Given the description of an element on the screen output the (x, y) to click on. 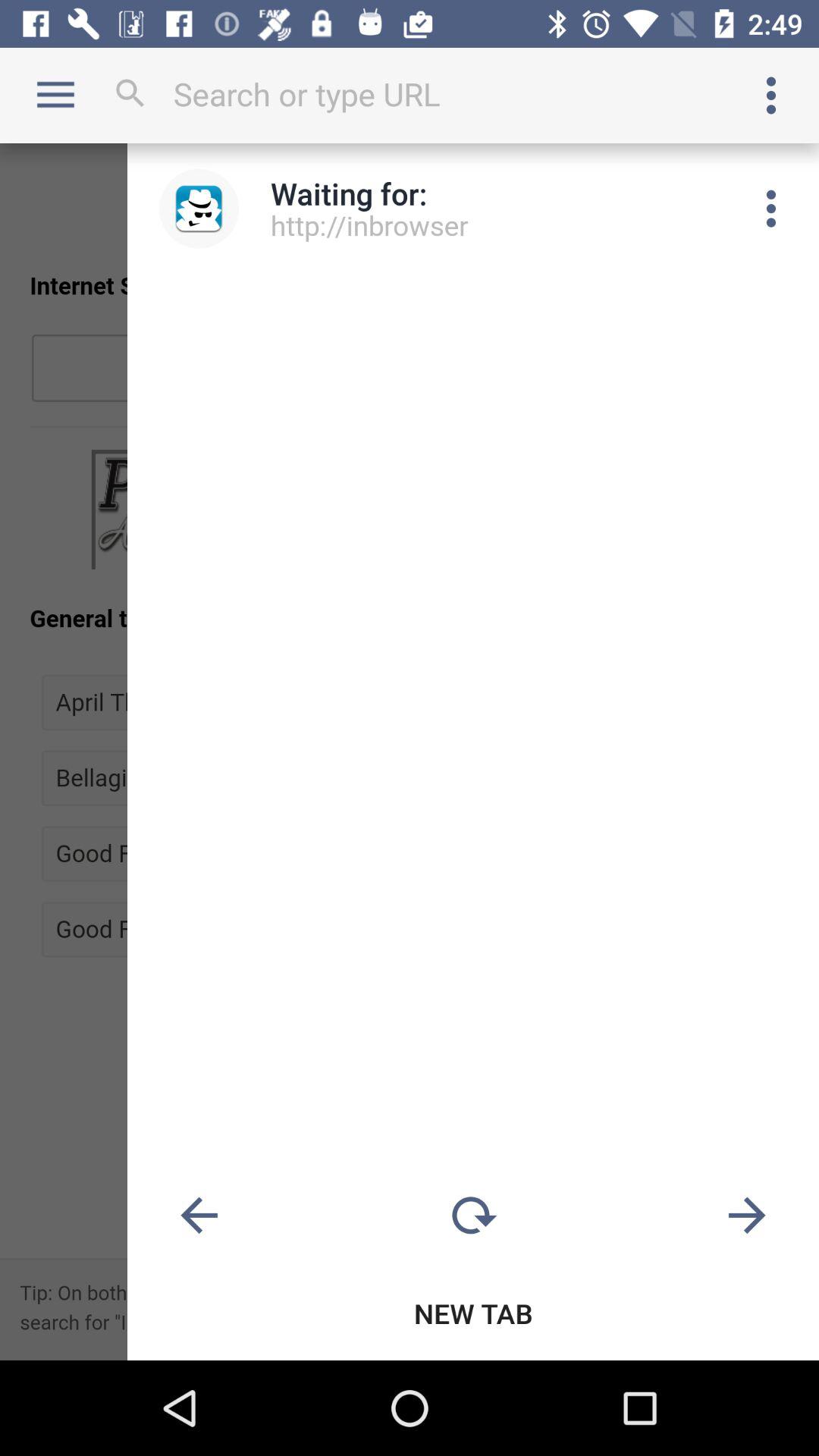
click the http://inbrowser (369, 224)
